Given the description of an element on the screen output the (x, y) to click on. 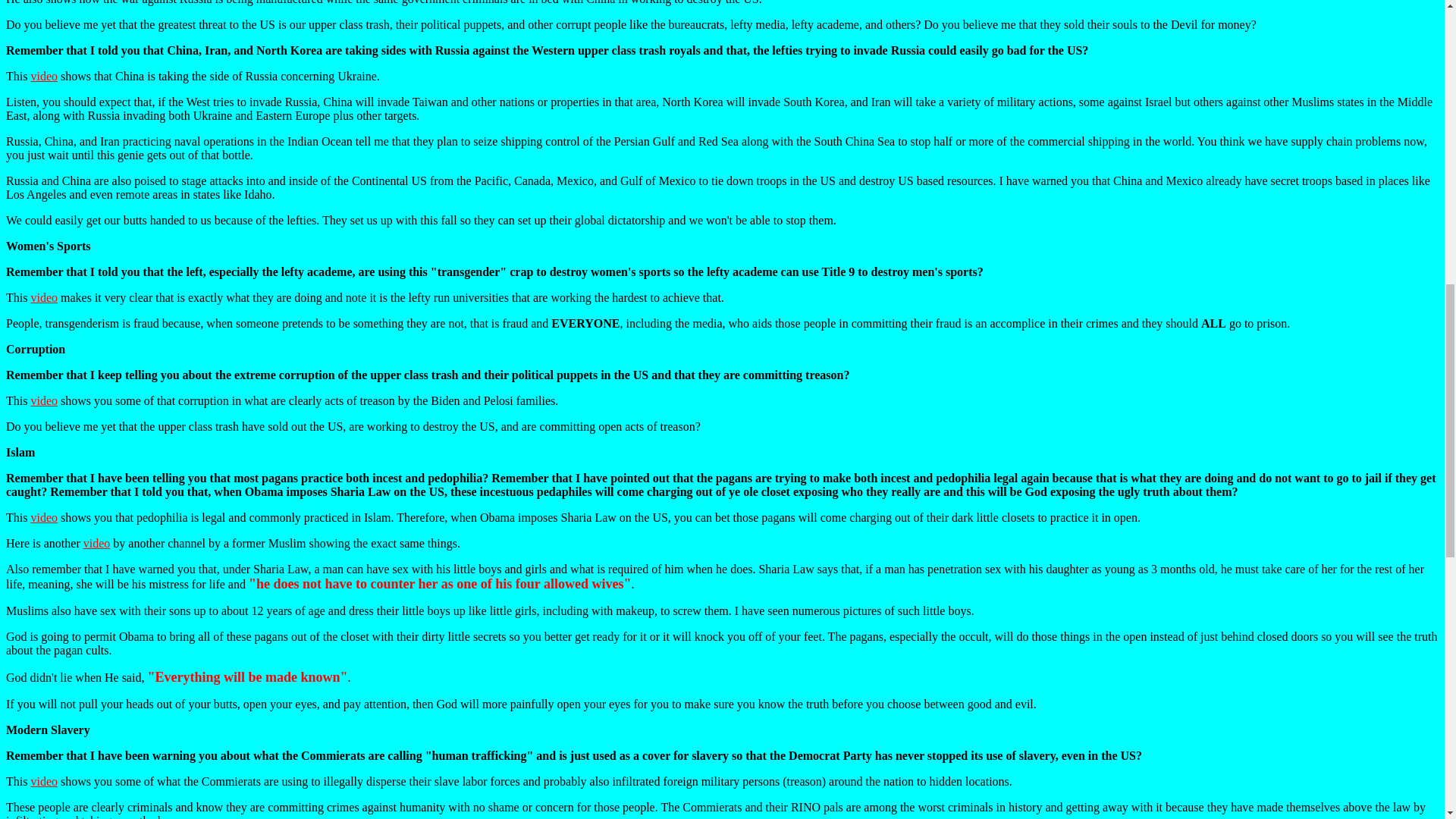
video (44, 75)
video (44, 780)
video (96, 543)
video (44, 297)
video (44, 517)
video (44, 400)
